Given the description of an element on the screen output the (x, y) to click on. 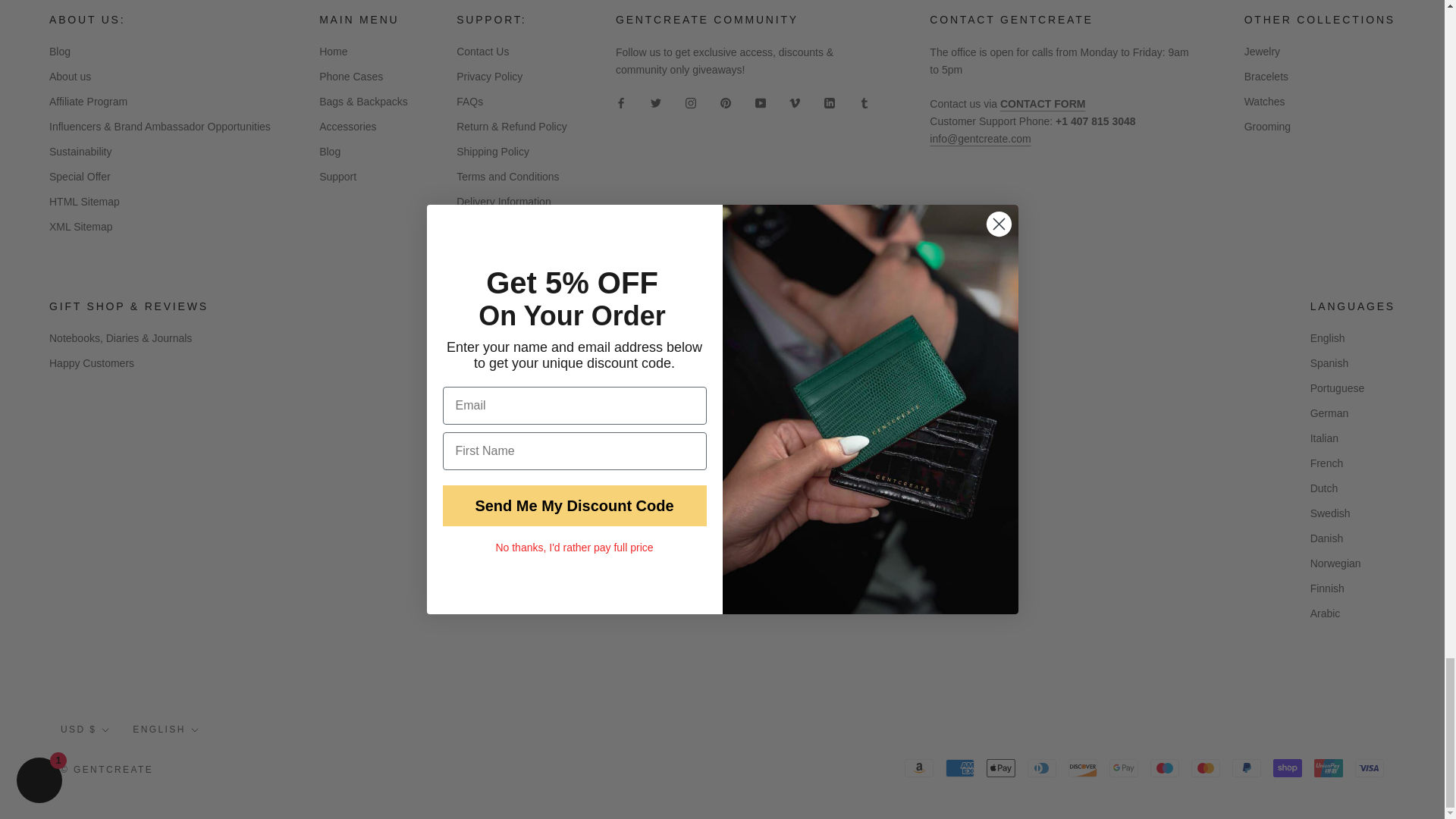
Amazon (918, 768)
Apple Pay (1000, 768)
American Express (959, 768)
